Given the description of an element on the screen output the (x, y) to click on. 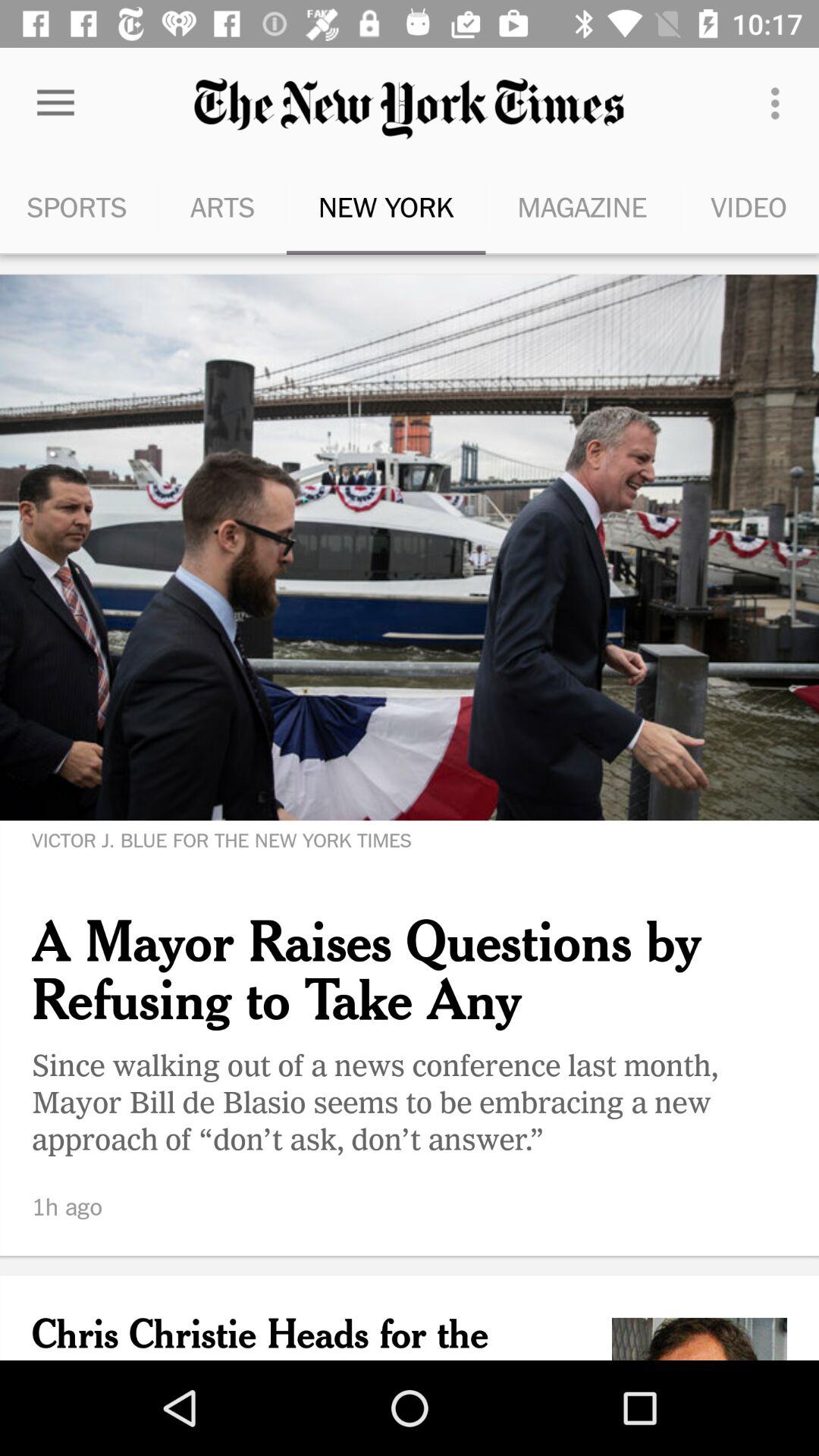
click on the menu option (779, 103)
click on text right to home button at top (409, 108)
click on the button which is to the right of sports (222, 206)
click on magazine (582, 206)
